Given the description of an element on the screen output the (x, y) to click on. 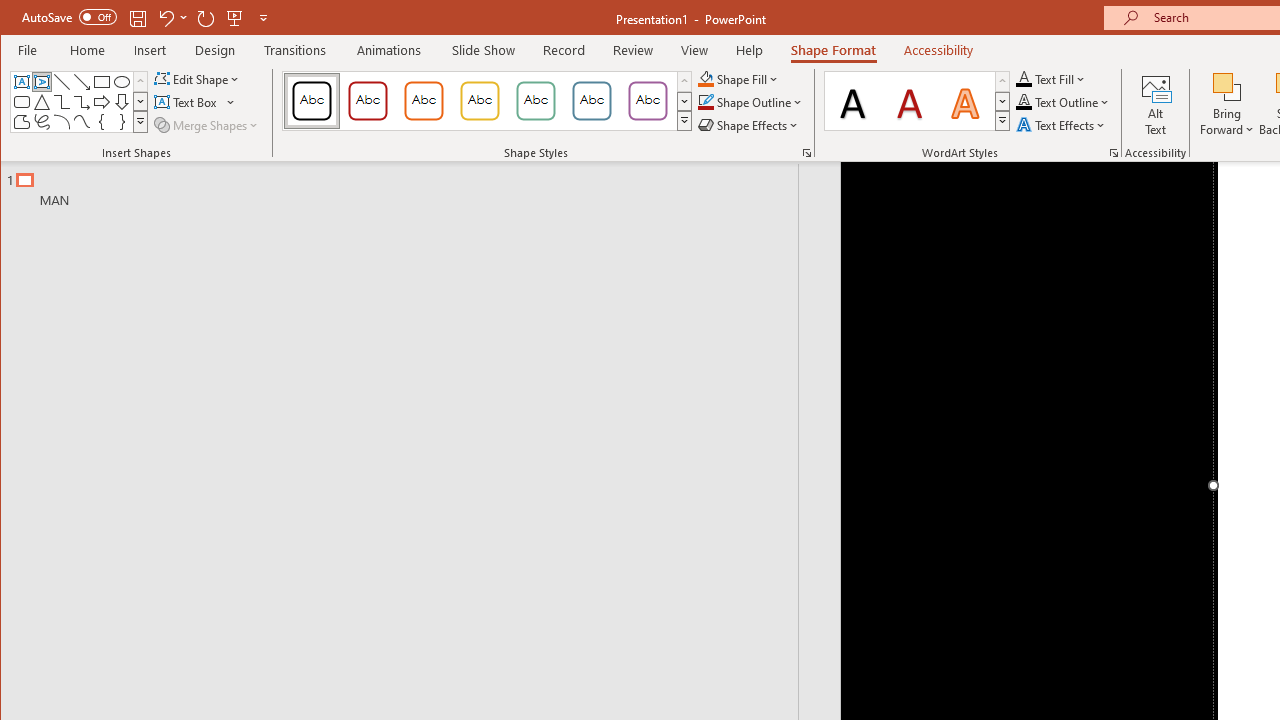
Edit Shape (198, 78)
Colored Outline - Dark Red, Accent 1 (367, 100)
Shape Format (833, 50)
